Given the description of an element on the screen output the (x, y) to click on. 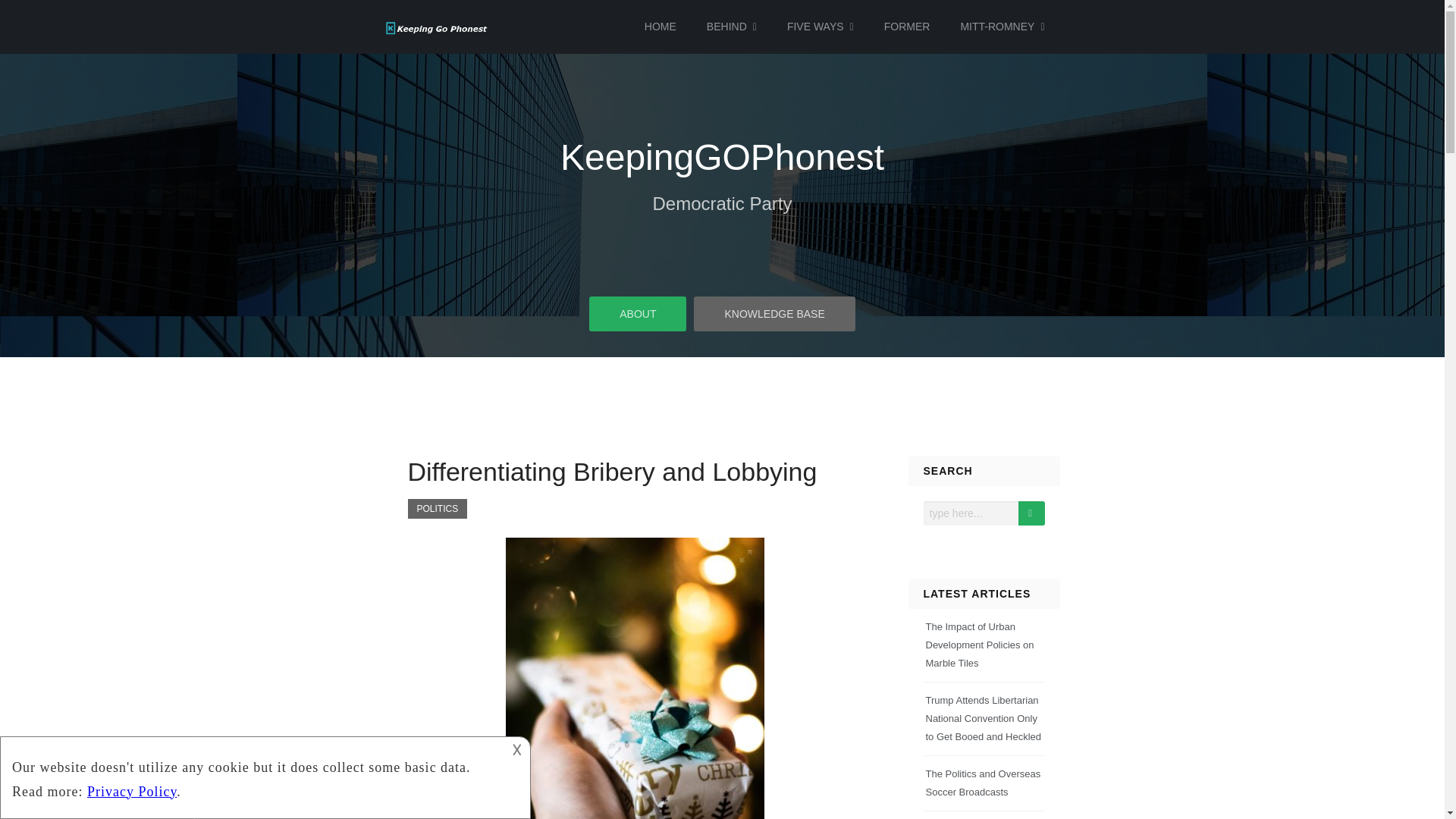
ABOUT (637, 312)
BEHIND (731, 26)
type here... (971, 513)
KeepingGOPhonest - Democratic Party (436, 26)
description (252, 775)
The Impact of Urban Development Policies on Marble Tiles (978, 644)
Democratic Party (722, 202)
KeepingGOPhonest - Democratic Party (722, 202)
KeepingGOPhonest - Democratic Party (436, 28)
